Given the description of an element on the screen output the (x, y) to click on. 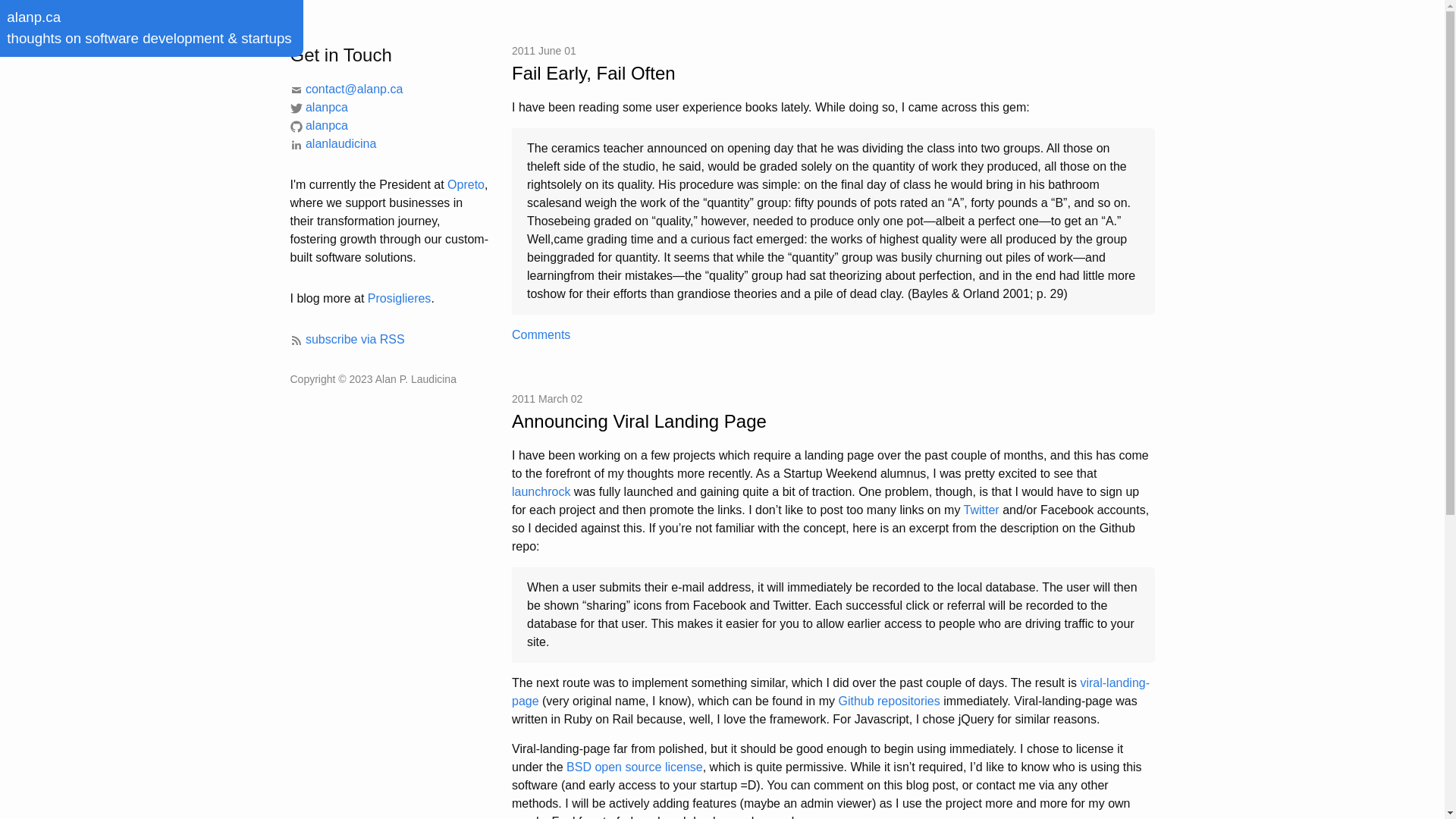
alanpca Element type: text (318, 106)
BSD open source license Element type: text (634, 766)
Fail Early, Fail Often Element type: text (832, 73)
Prosiglieres Element type: text (399, 297)
launchrock Element type: text (540, 491)
alanlaudicina Element type: text (332, 143)
subscribe via RSS Element type: text (346, 338)
Github repositories Element type: text (888, 700)
Twitter Element type: text (981, 509)
Announcing Viral Landing Page Element type: text (832, 421)
contact@alanp.ca Element type: text (345, 88)
viral-landing-page Element type: text (830, 691)
Opreto Element type: text (465, 184)
Comments Element type: text (540, 334)
alanpca Element type: text (318, 125)
